Given the description of an element on the screen output the (x, y) to click on. 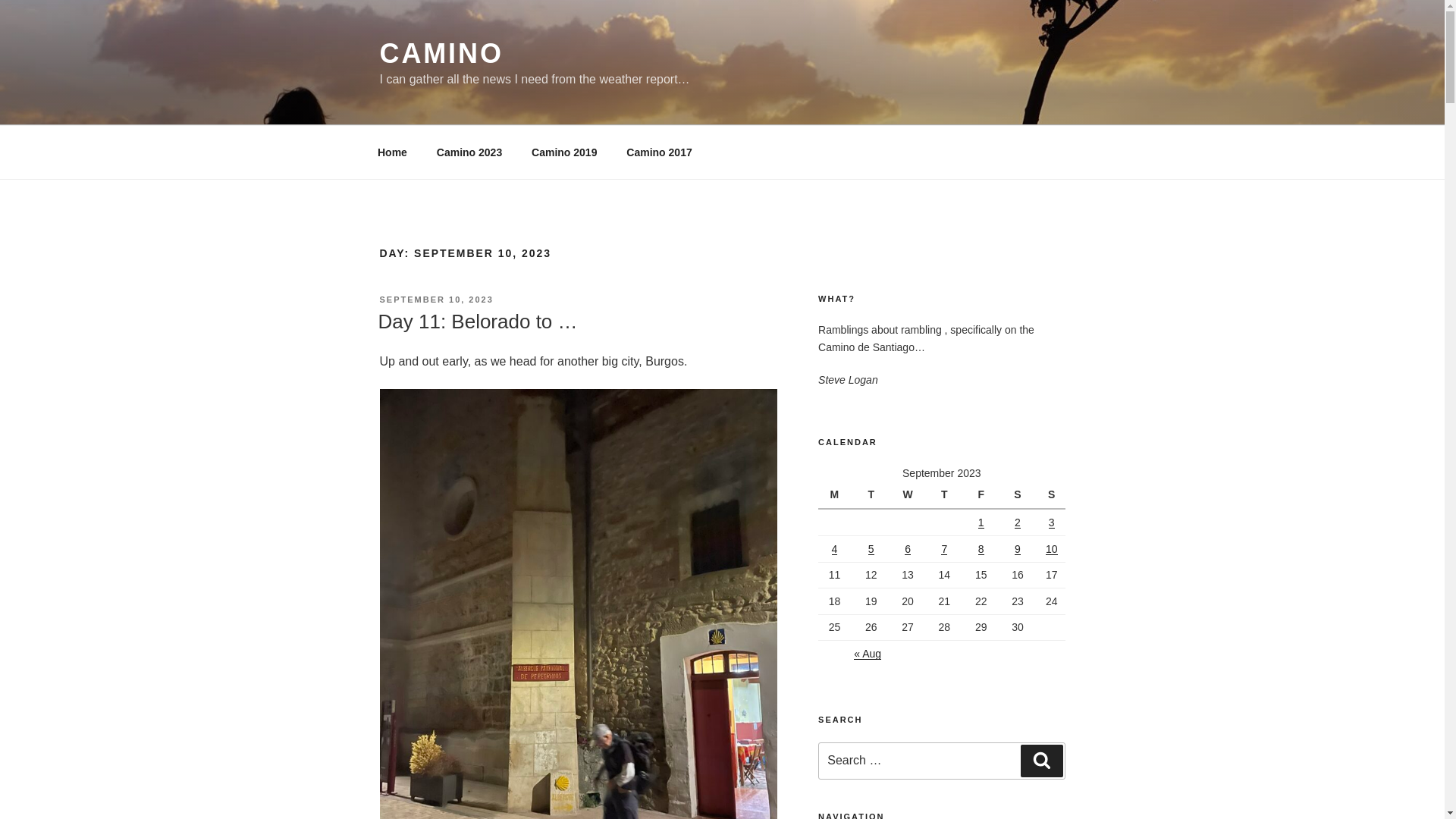
Camino 2017 (658, 151)
Thursday (945, 494)
Sunday (1051, 494)
Friday (982, 494)
Tuesday (872, 494)
Saturday (1019, 494)
Wednesday (909, 494)
Camino 2023 (469, 151)
Home (392, 151)
Camino 2019 (564, 151)
